Given the description of an element on the screen output the (x, y) to click on. 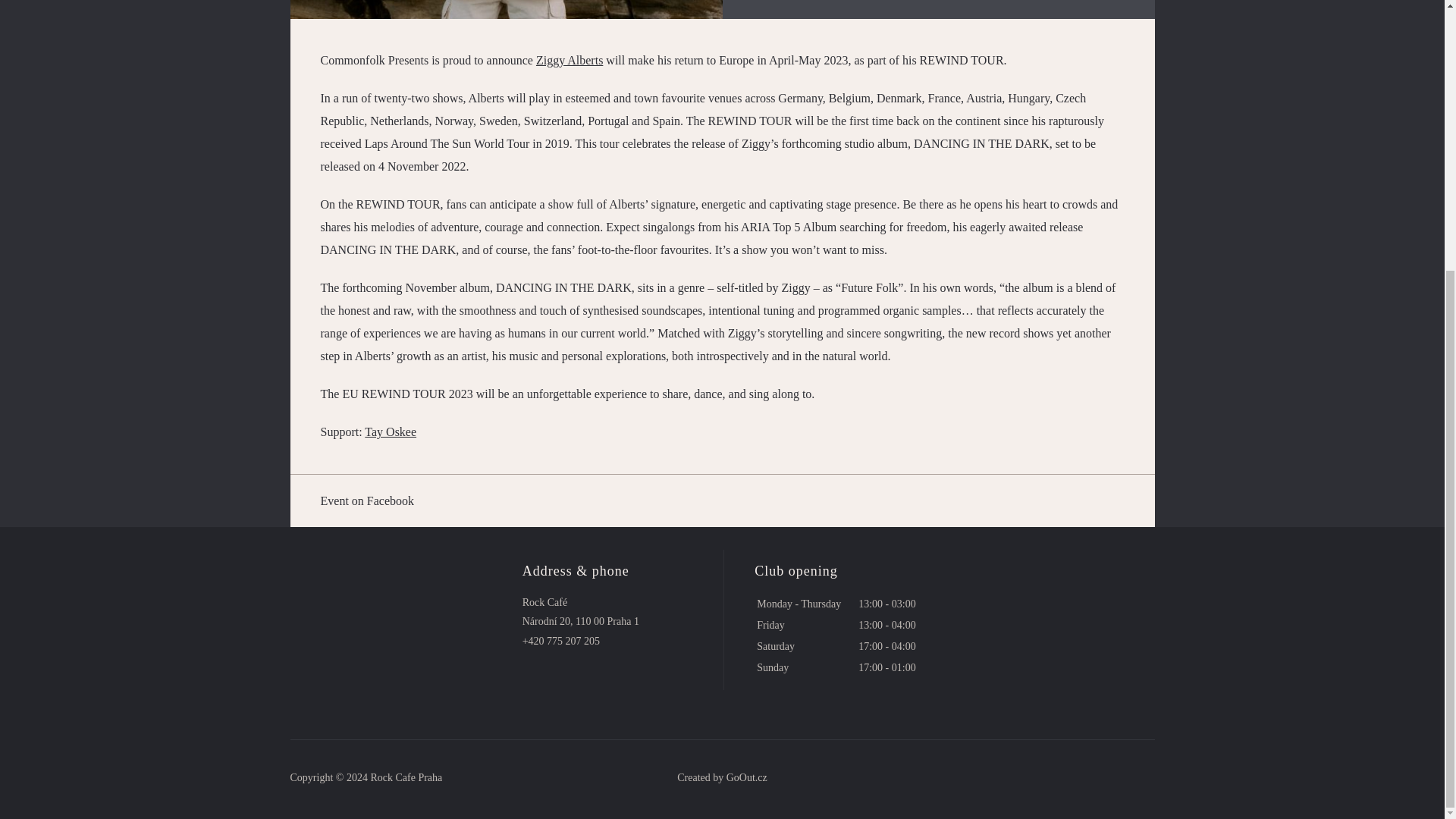
Ziggy Alberts (568, 60)
Tay Oskee (390, 431)
Created by GoOut.cz (721, 777)
Event on Facebook (721, 500)
